Given the description of an element on the screen output the (x, y) to click on. 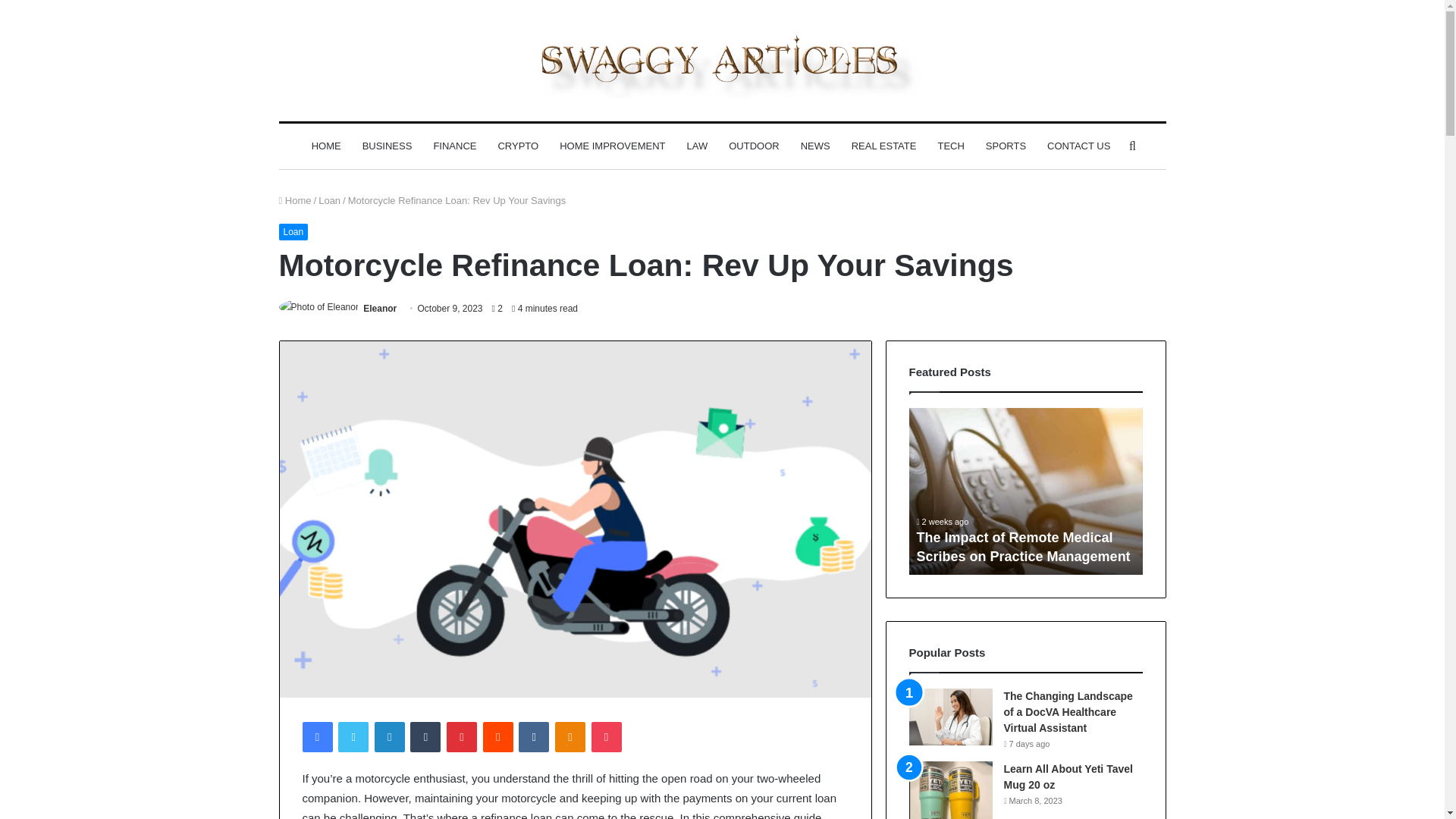
CRYPTO (517, 145)
Facebook (316, 736)
Tumblr (425, 736)
Pinterest (461, 736)
CONTACT US (1078, 145)
LAW (698, 145)
FINANCE (454, 145)
Reddit (498, 736)
Tumblr (425, 736)
Twitter (352, 736)
LinkedIn (389, 736)
Twitter (352, 736)
Eleanor (379, 308)
Reddit (498, 736)
Loan (329, 200)
